Given the description of an element on the screen output the (x, y) to click on. 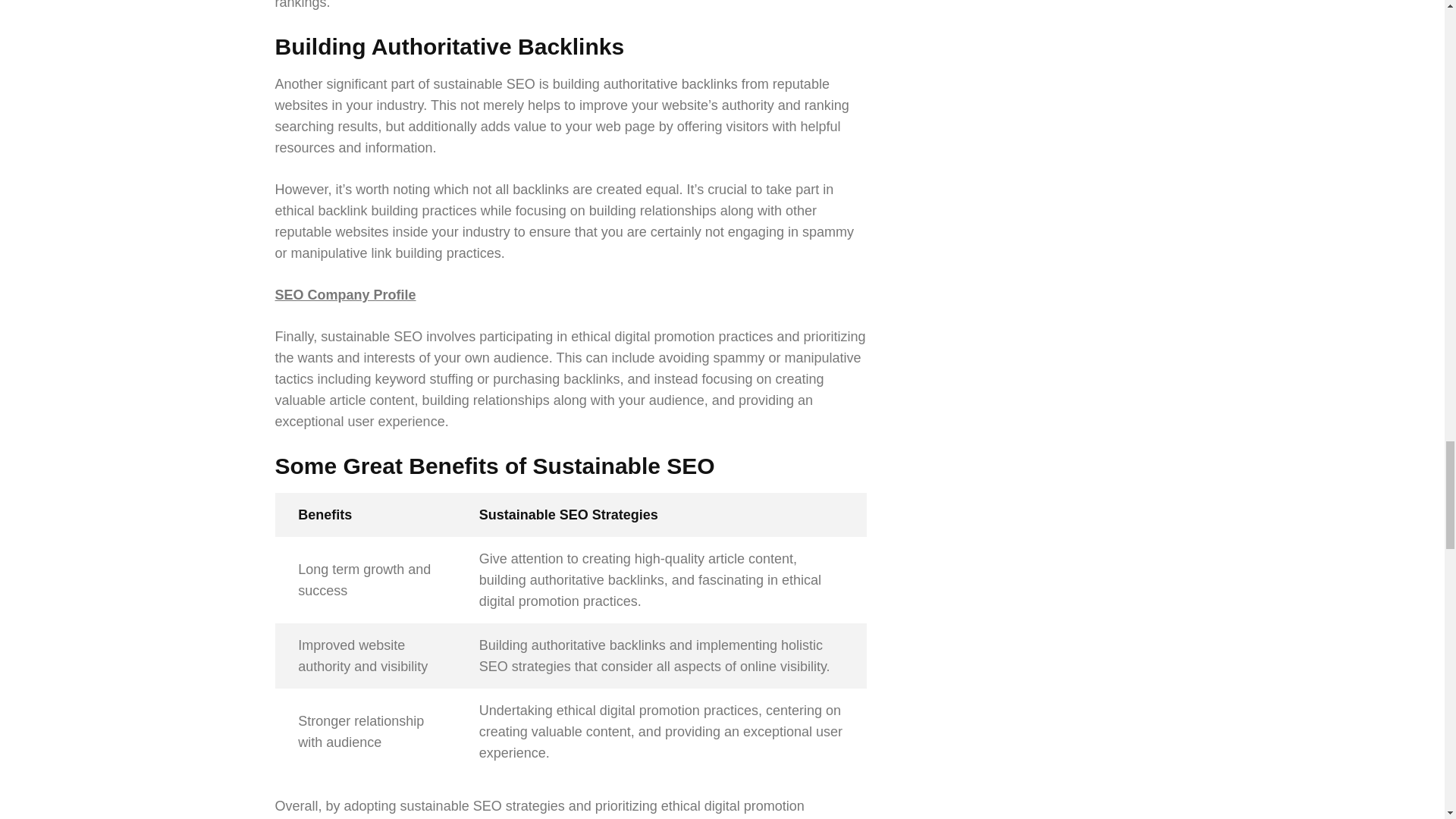
SEO Company Profile (344, 294)
